Given the description of an element on the screen output the (x, y) to click on. 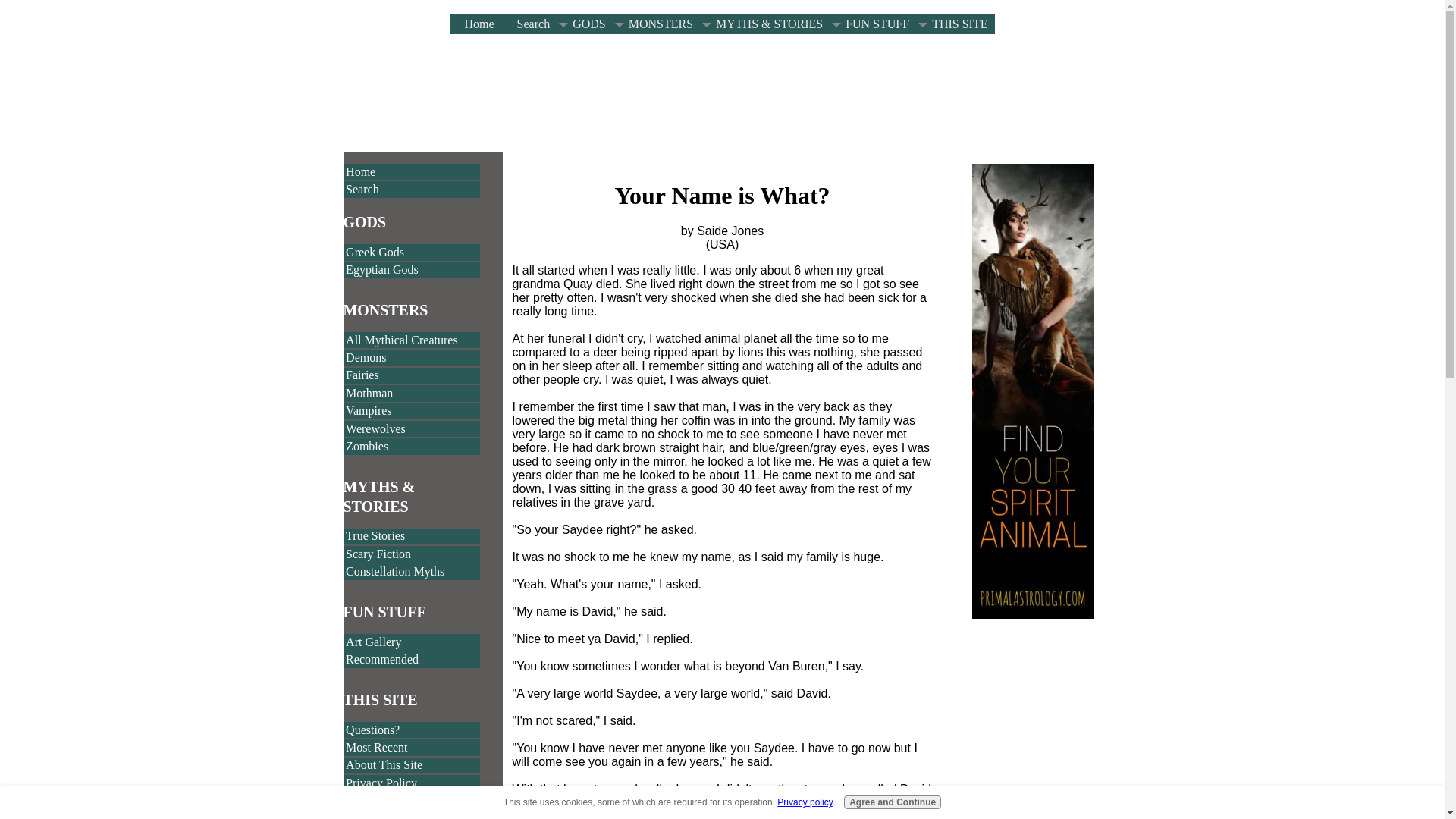
Scary Fiction (411, 554)
Search (411, 189)
Home (474, 24)
Egyptian Gods (411, 269)
All Mythical Creatures (411, 340)
Demons (411, 357)
True Stories (411, 536)
Mothman (411, 393)
Art Gallery (411, 641)
Werewolves (411, 428)
